Given the description of an element on the screen output the (x, y) to click on. 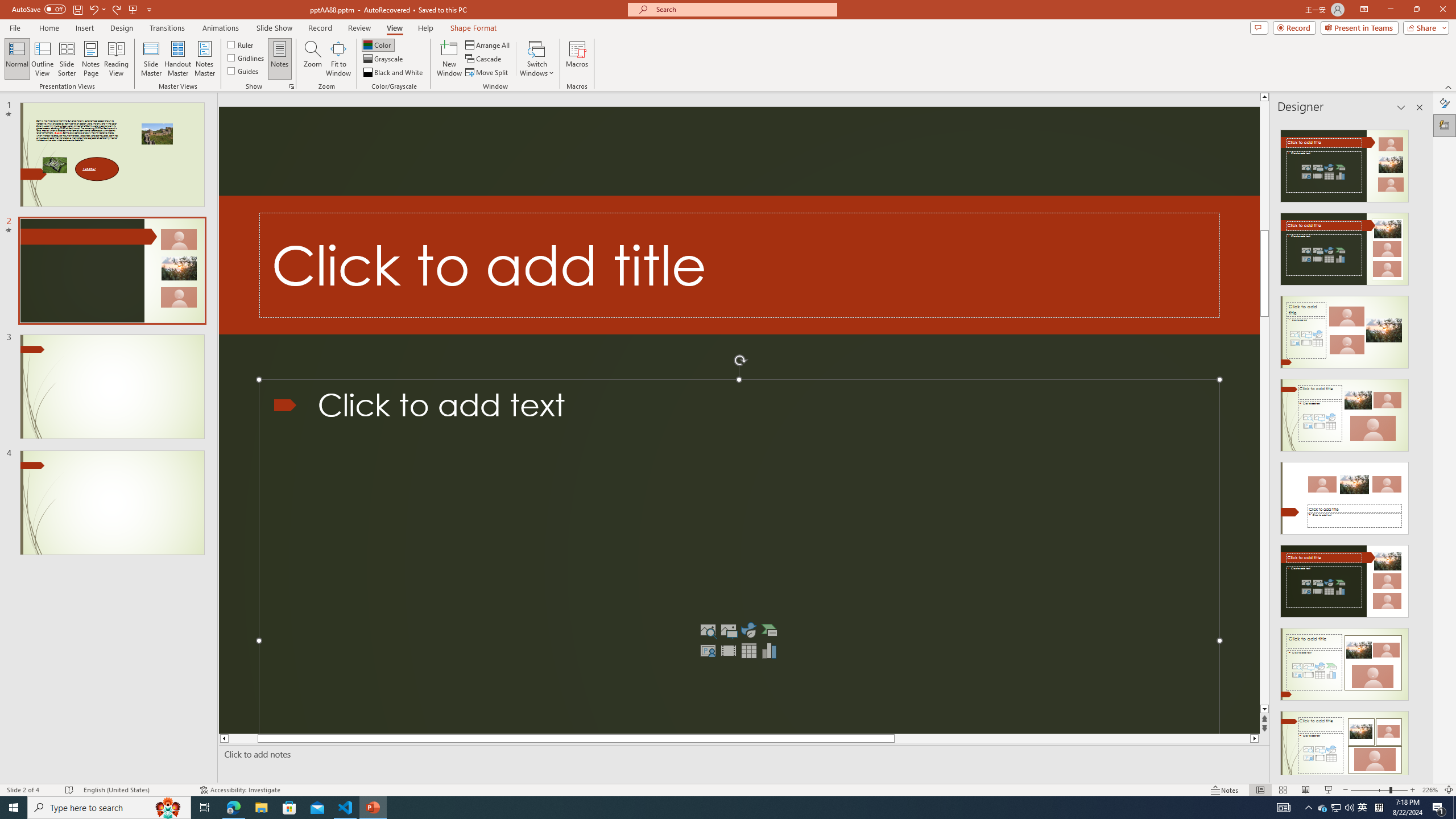
Outline View (42, 58)
Insert Cameo (707, 650)
